Given the description of an element on the screen output the (x, y) to click on. 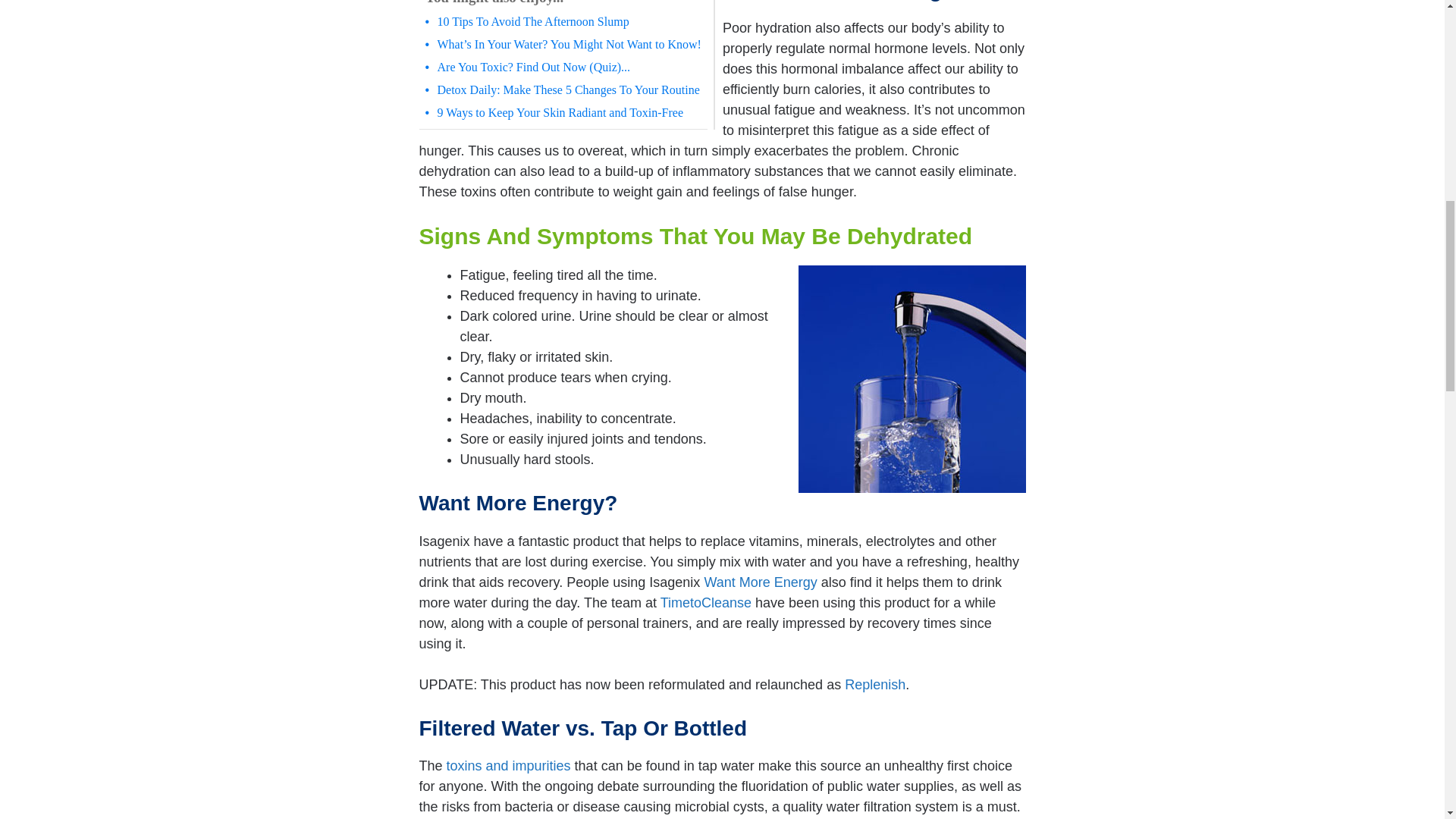
Detox Daily: Make These 5 Changes To Your Routine (568, 90)
9 Ways to Keep Your Skin Radiant and Toxin-Free (568, 112)
10 Tips To Avoid The Afternoon Slump (568, 21)
